Given the description of an element on the screen output the (x, y) to click on. 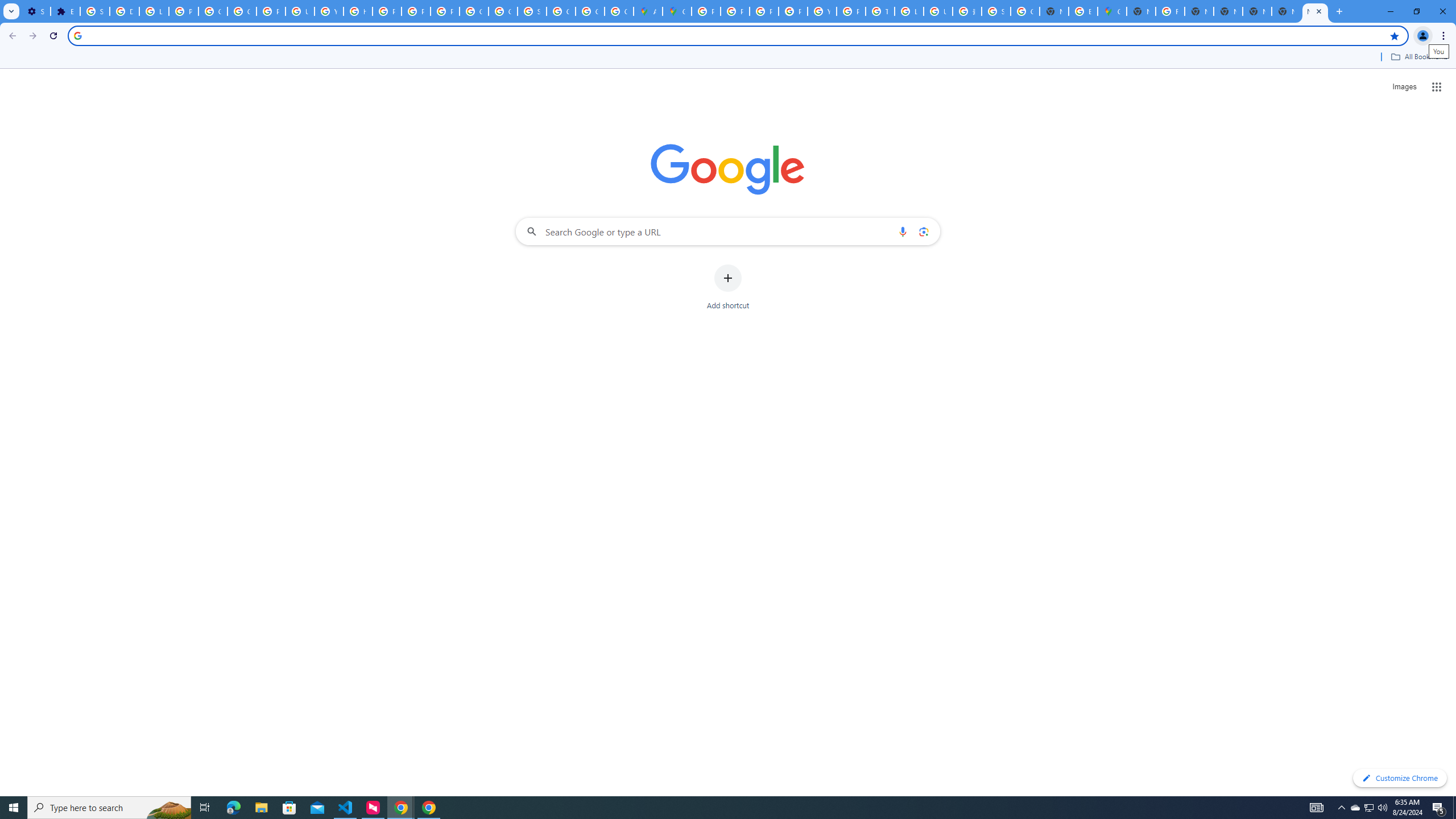
Explore new street-level details - Google Maps Help (1082, 11)
Google Maps (1111, 11)
New Tab (1315, 11)
YouTube (821, 11)
Search by voice (902, 230)
Privacy Help Center - Policies Help (386, 11)
New Tab (1140, 11)
Extensions (65, 11)
